Given the description of an element on the screen output the (x, y) to click on. 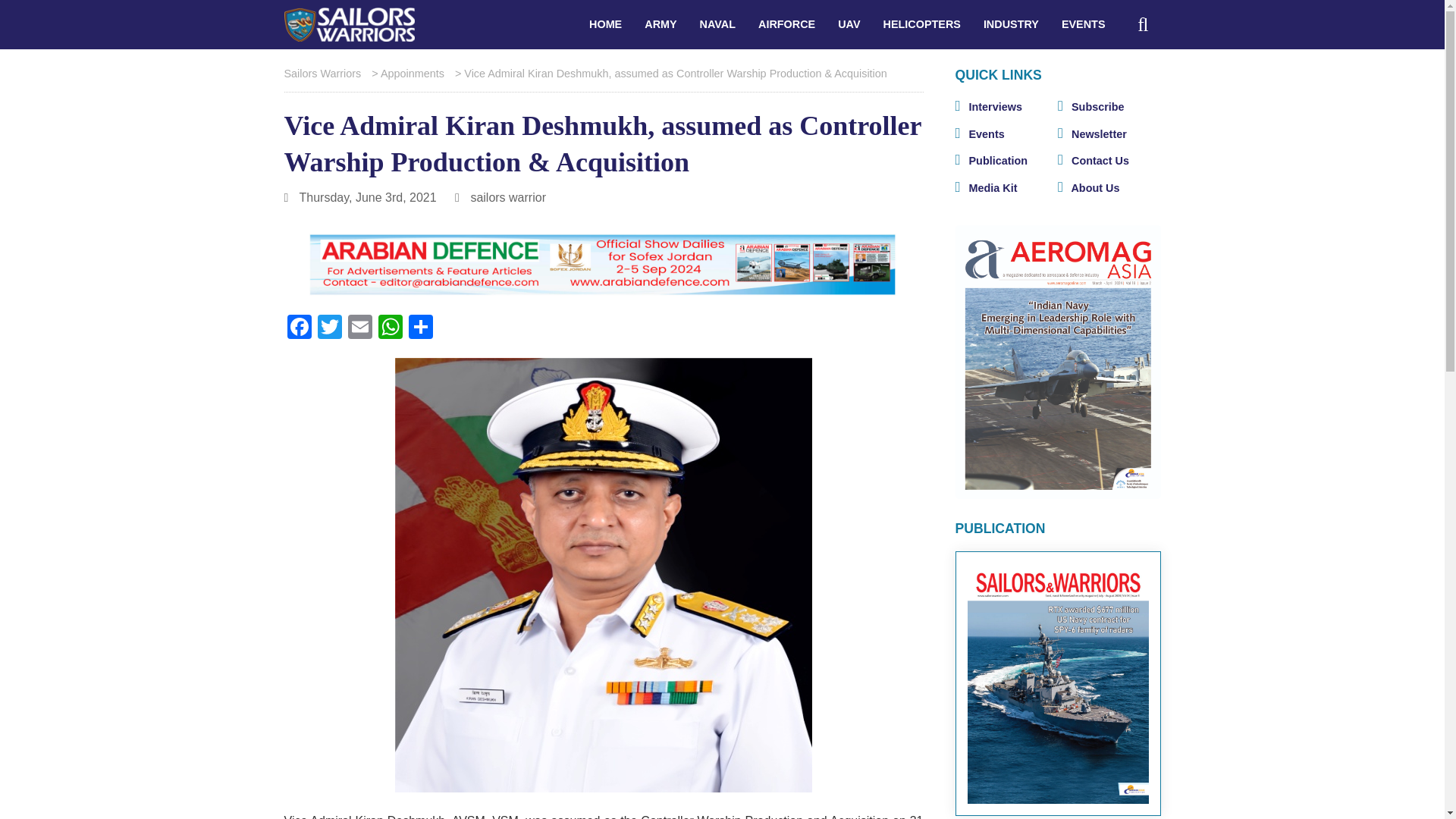
Sailors Warriors (348, 24)
Subscribe (1091, 106)
Email (358, 328)
HOME (605, 24)
Publication (991, 160)
INDUSTRY (1010, 24)
NAVAL (717, 24)
Newsletter (1092, 133)
Twitter (328, 328)
WhatsApp (389, 328)
Contact Us (1093, 160)
Facebook (298, 328)
HELICOPTERS (922, 24)
AIRFORCE (786, 24)
WhatsApp (389, 328)
